Given the description of an element on the screen output the (x, y) to click on. 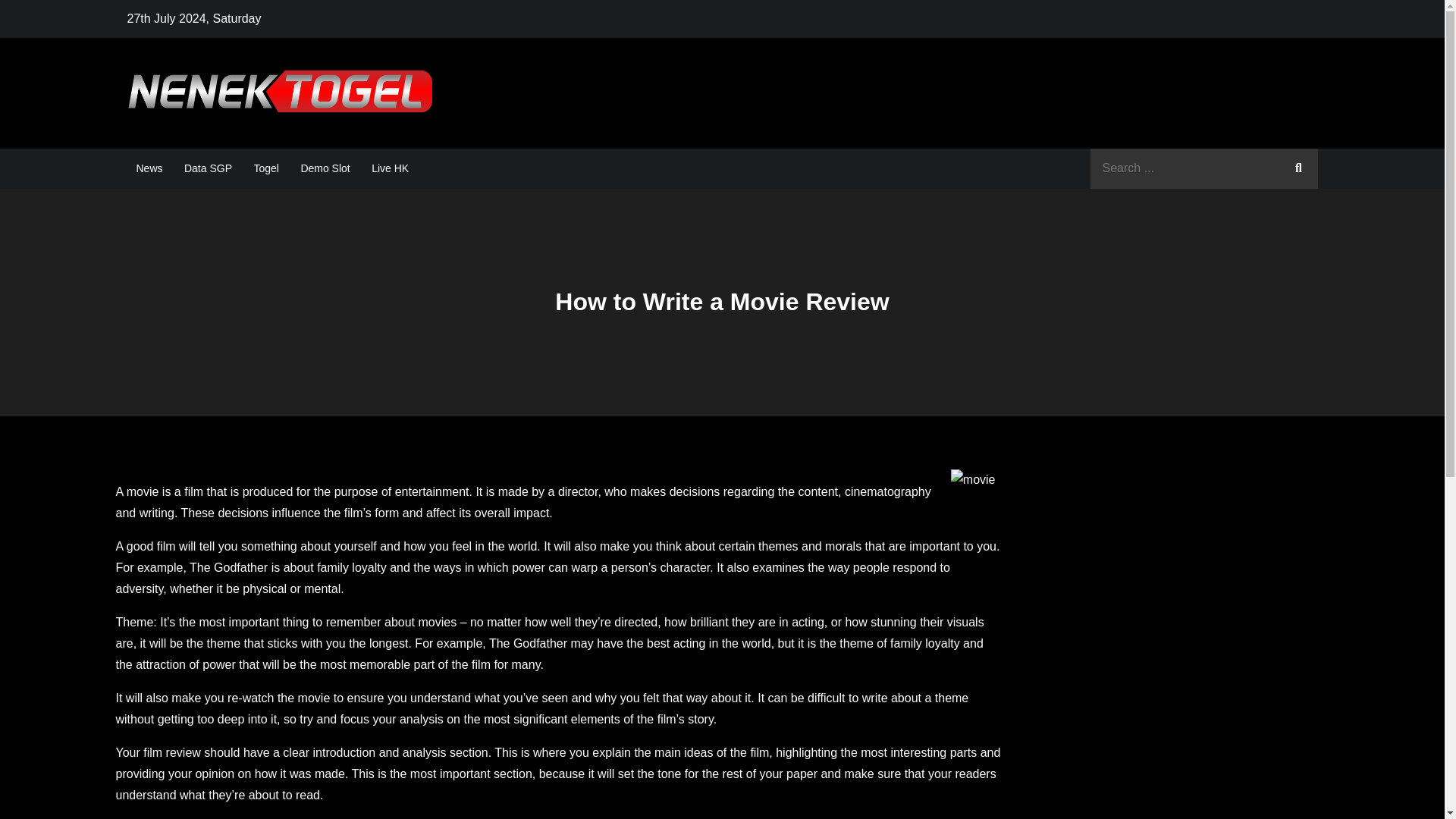
Search for: (1203, 168)
Search (1298, 168)
News (149, 168)
Pragmatic, Pragmatic Play, Agen Slot Pragmatic 2021 (758, 108)
Live HK (389, 168)
Data SGP (207, 168)
Demo Slot (324, 168)
Togel (265, 168)
